Given the description of an element on the screen output the (x, y) to click on. 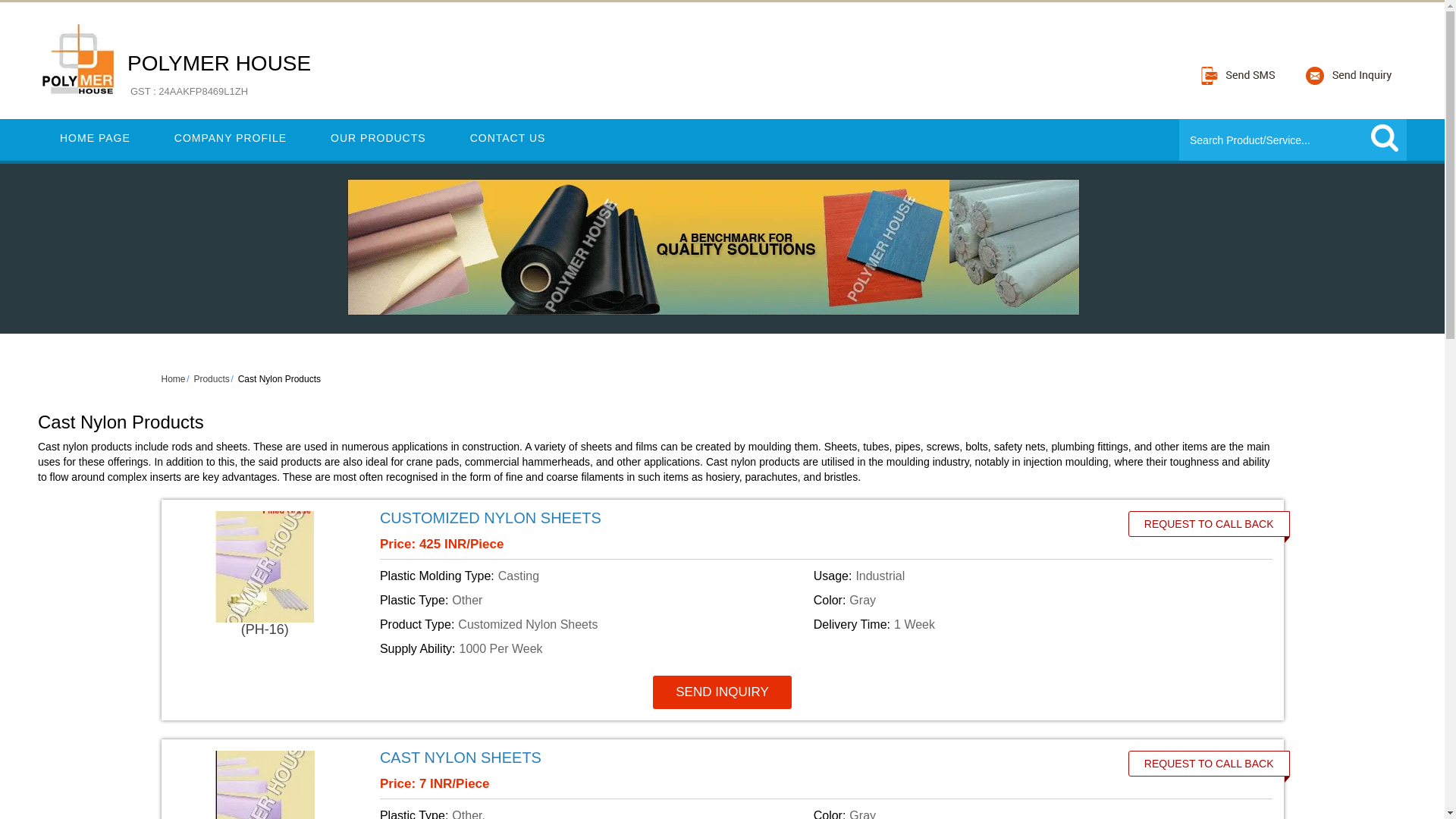
COMPANY PROFILE (230, 137)
submit (1384, 138)
Plastic Type: Other (594, 600)
Plastic Molding Type: Casting (594, 576)
Product Type: Customized Nylon Sheets (594, 624)
Color: Gray (1027, 600)
REQUEST TO CALL BACK (1208, 763)
Home (172, 378)
Customized Nylon Sheets (736, 517)
CAST NYLON SHEETS (460, 757)
SEND INQUIRY (722, 692)
CUSTOMIZED NYLON SHEETS (490, 517)
OUR PRODUCTS (378, 137)
Color: Gray (1027, 812)
Delivery Time: 1 Week (1027, 624)
